Given the description of an element on the screen output the (x, y) to click on. 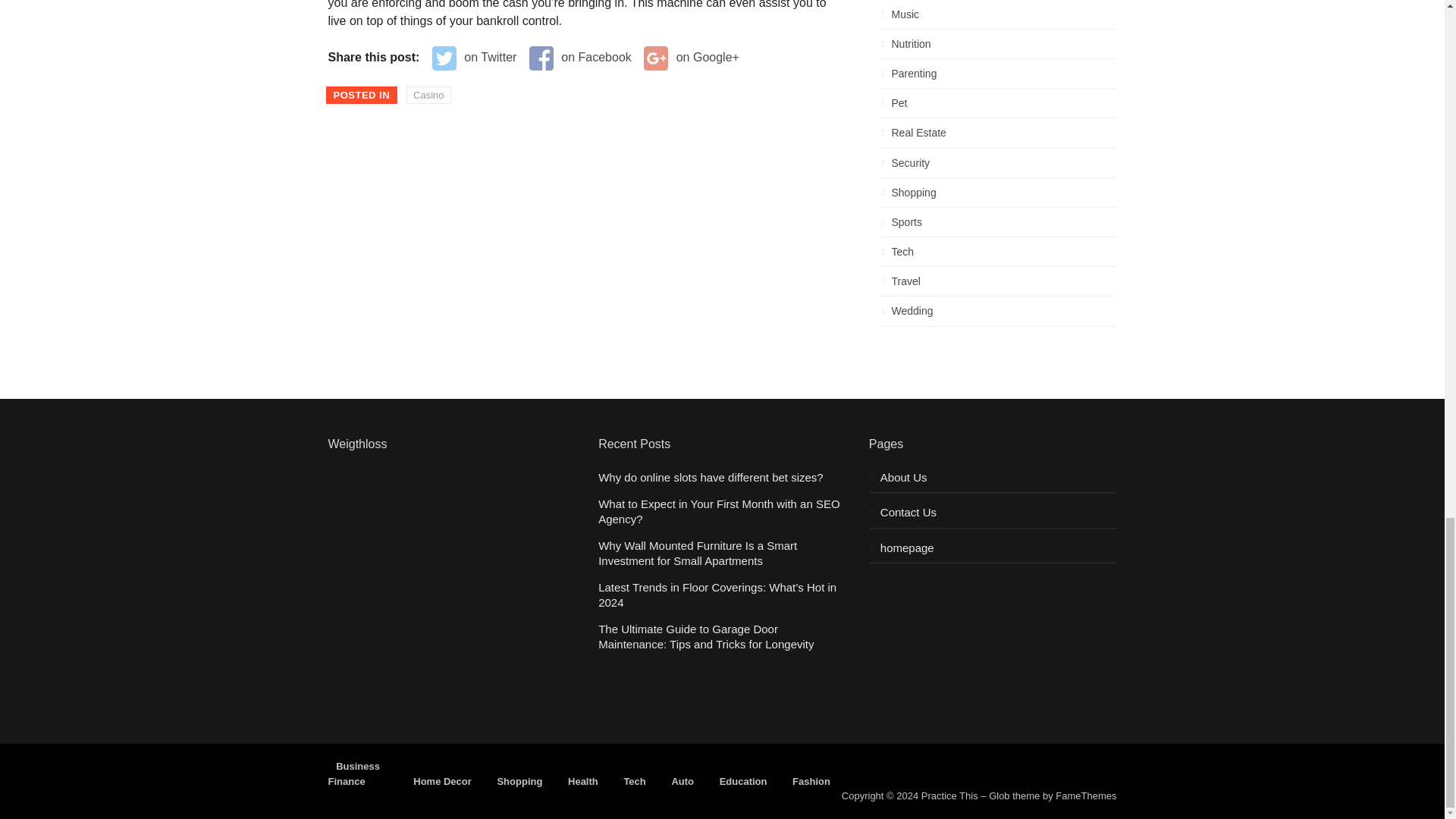
on Twitter (474, 57)
on Facebook (580, 57)
Casino (427, 95)
